Given the description of an element on the screen output the (x, y) to click on. 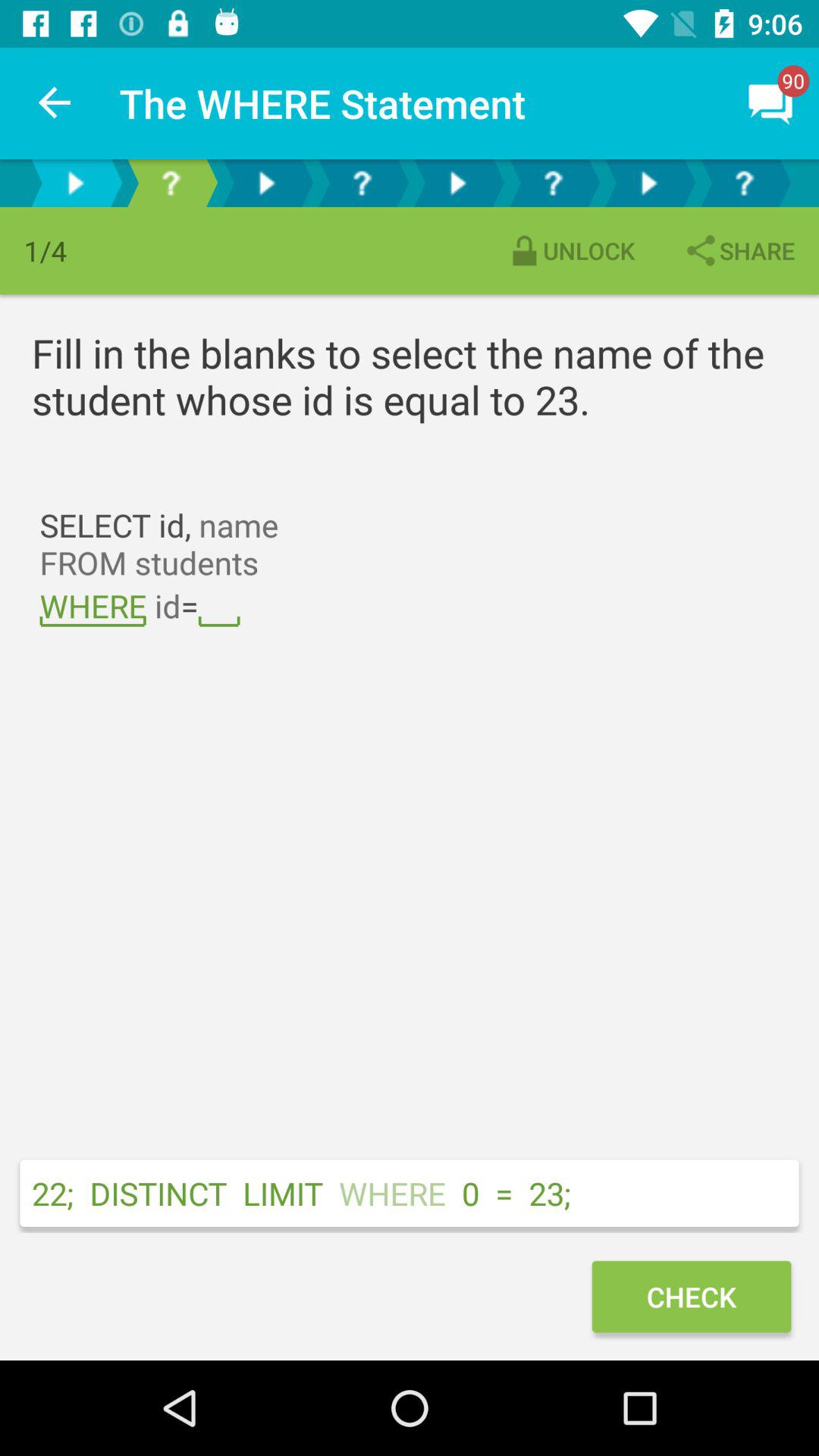
select the icon above fill in the icon (738, 250)
